Given the description of an element on the screen output the (x, y) to click on. 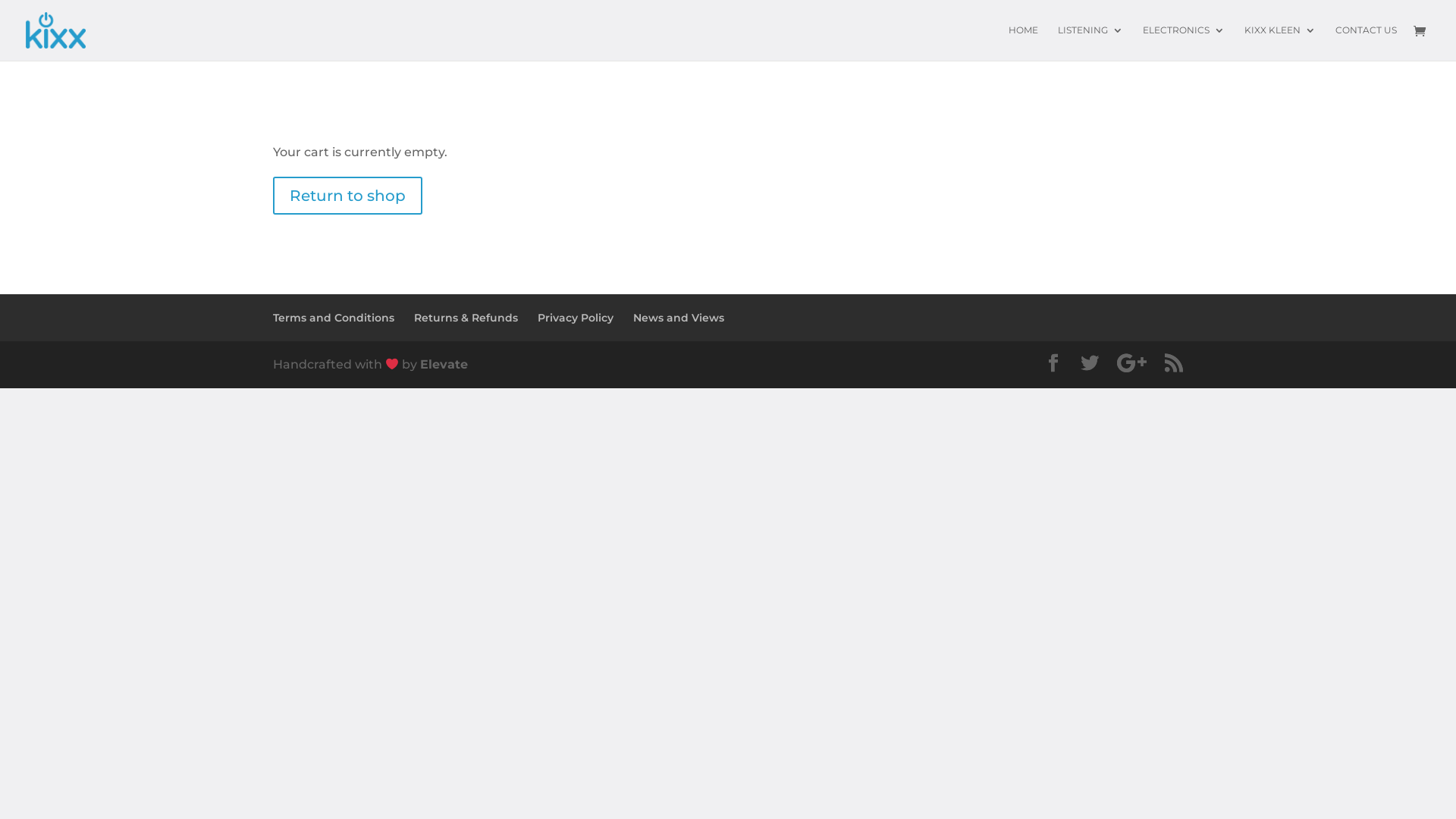
KIXX KLEEN Element type: text (1279, 42)
ELECTRONICS Element type: text (1183, 42)
Elevate Element type: text (443, 364)
KIXX Element type: hover (55, 30)
Return to shop Element type: text (347, 195)
HOME Element type: text (1023, 42)
LISTENING Element type: text (1090, 42)
Privacy Policy Element type: text (575, 317)
Returns & Refunds Element type: text (465, 317)
Terms and Conditions Element type: text (333, 317)
News and Views Element type: text (678, 317)
CONTACT US Element type: text (1365, 42)
